Given the description of an element on the screen output the (x, y) to click on. 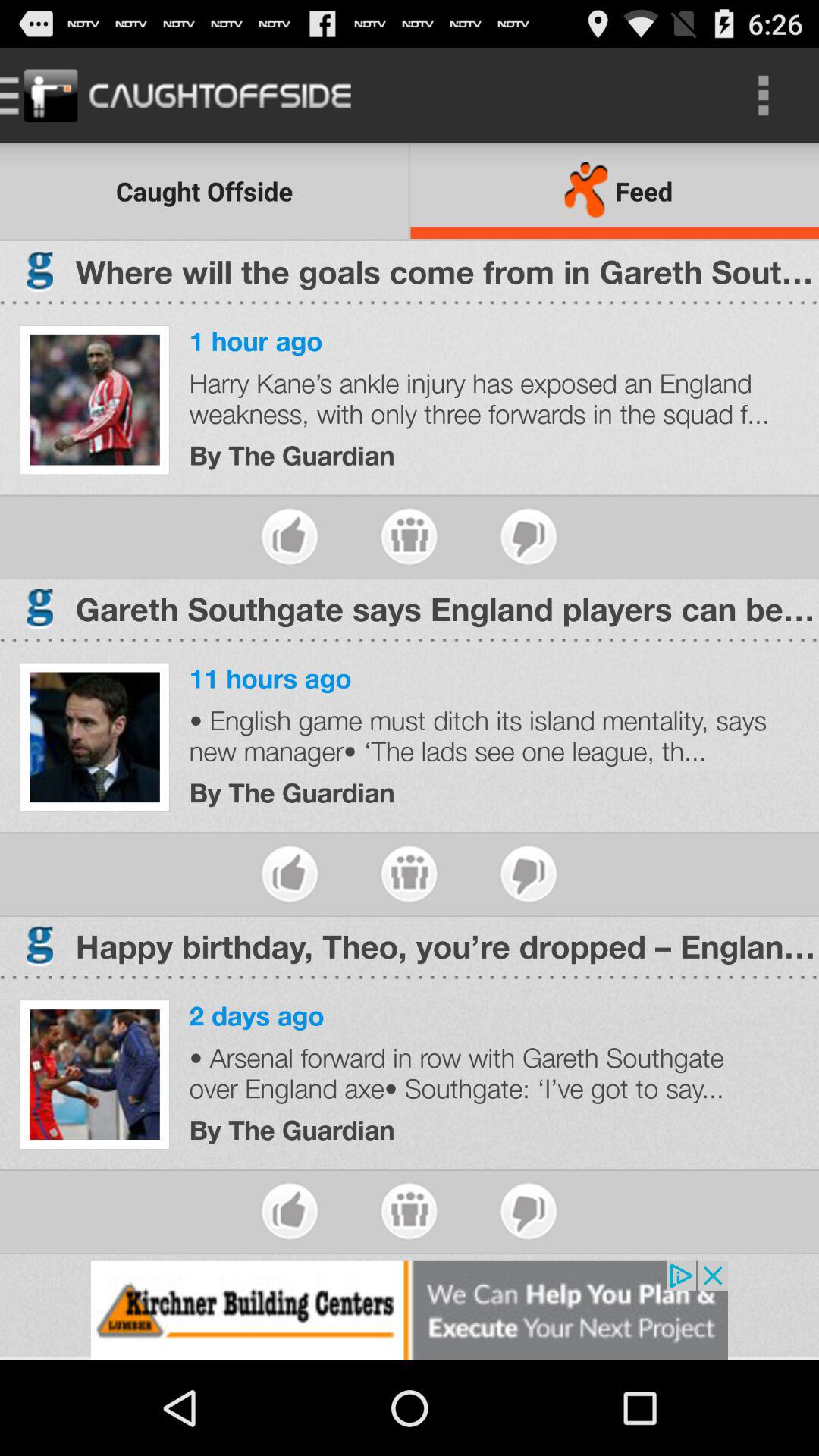
open advertisement (409, 1310)
